Given the description of an element on the screen output the (x, y) to click on. 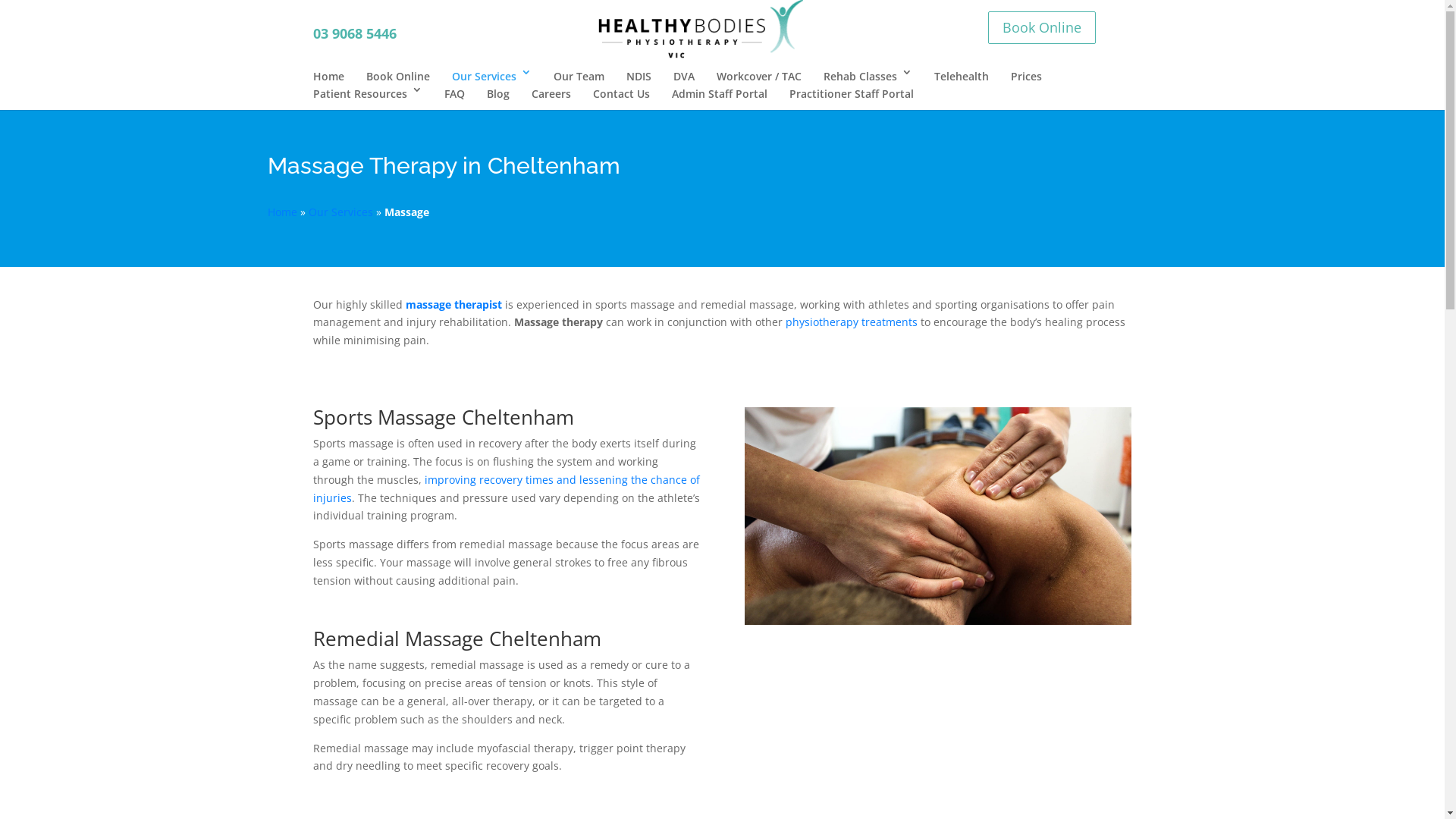
Telehealth Element type: text (961, 75)
03 9068 5446 Element type: text (353, 33)
Contact Us Element type: text (621, 93)
DVA Element type: text (683, 75)
Rehab Classes Element type: text (867, 75)
Patient Resources Element type: text (366, 93)
Book Online Element type: text (1041, 27)
Our Services Element type: text (491, 75)
massage therapist Element type: text (452, 304)
physiotherapy treatments Element type: text (851, 321)
Workcover / TAC Element type: text (757, 75)
Practitioner Staff Portal Element type: text (850, 93)
Book Online Element type: text (397, 75)
Prices Element type: text (1025, 75)
Home Element type: text (281, 211)
Our Services Element type: text (339, 211)
Our Team Element type: text (578, 75)
Home Element type: text (327, 75)
Careers Element type: text (550, 93)
Admin Staff Portal Element type: text (719, 93)
NDIS Element type: text (638, 75)
FAQ Element type: text (454, 93)
Blog Element type: text (497, 93)
